Given the description of an element on the screen output the (x, y) to click on. 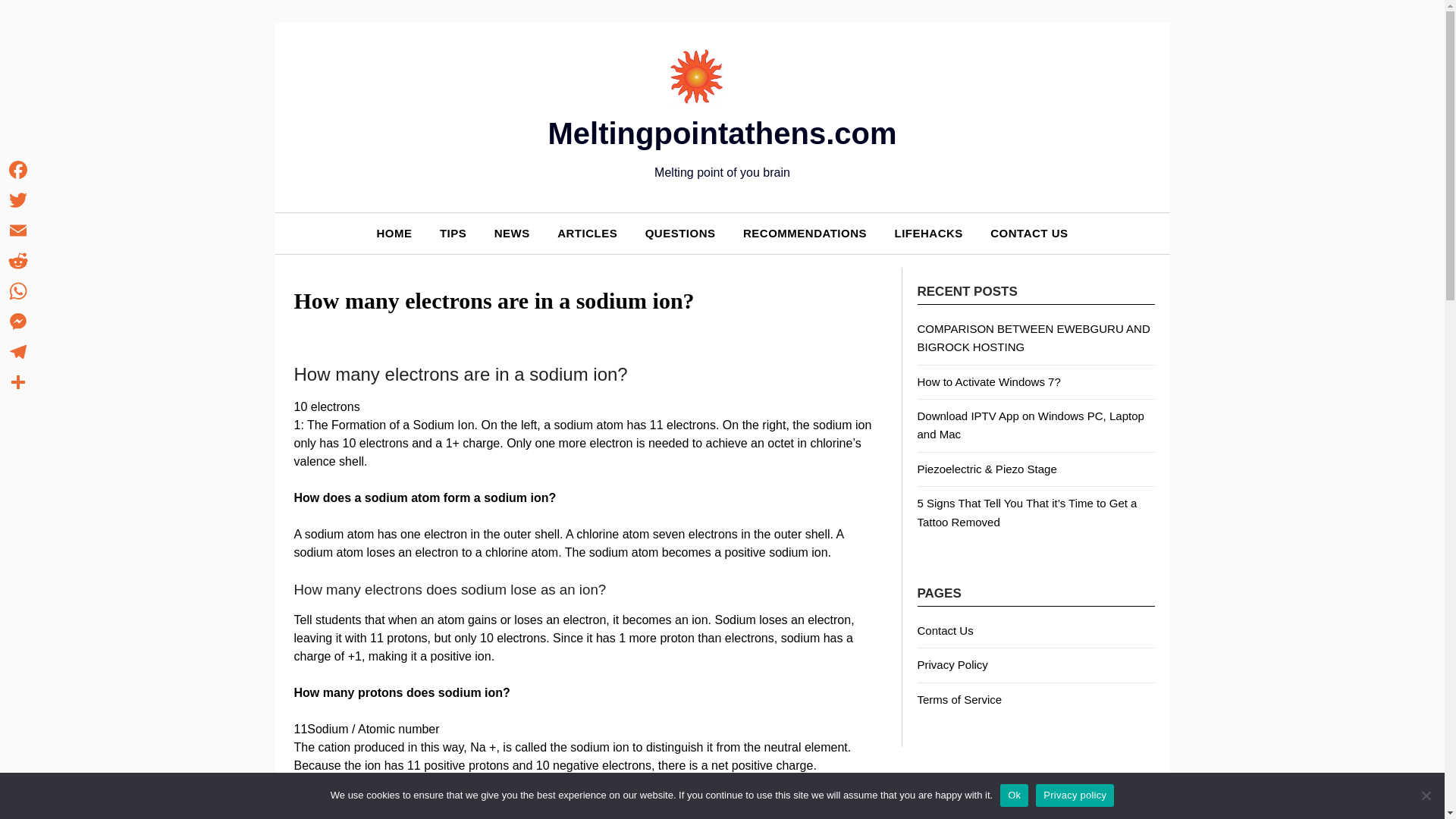
LIFEHACKS (928, 232)
ARTICLES (586, 232)
RECOMMENDATIONS (804, 232)
Facebook (17, 169)
Terms of Service (960, 698)
WhatsApp (17, 291)
Meltingpointathens.com (721, 133)
COMPARISON BETWEEN EWEBGURU AND BIGROCK HOSTING (1033, 337)
Twitter (17, 200)
HOME (393, 232)
Download IPTV App on Windows PC, Laptop and Mac (1030, 424)
CONTACT US (1029, 232)
NEWS (511, 232)
Telegram (17, 351)
How to Activate Windows 7? (989, 381)
